Given the description of an element on the screen output the (x, y) to click on. 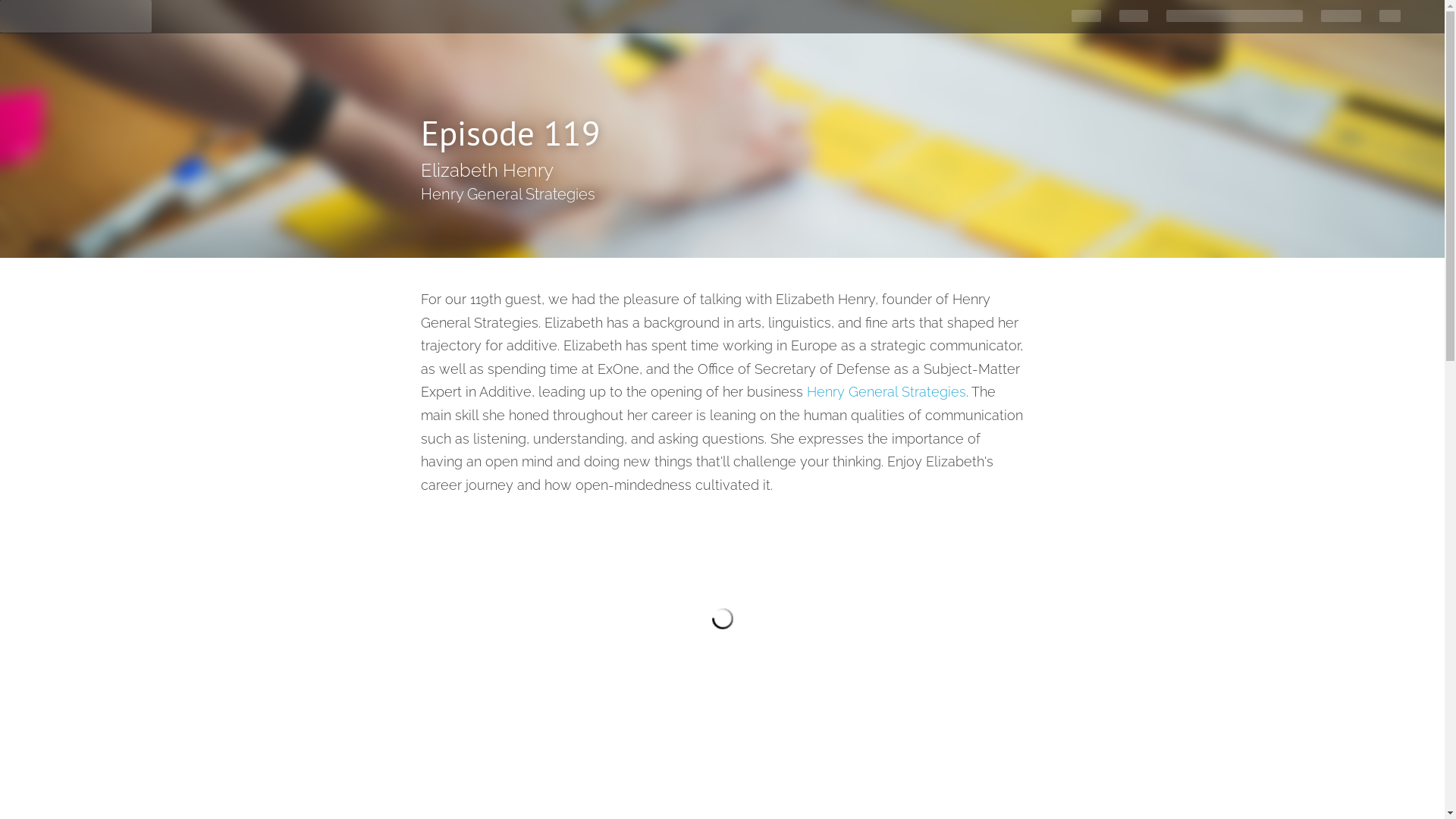
TraceAM Materials Software Element type: text (1234, 15)
About Element type: text (1133, 15)
AMx Element type: text (1389, 15)
Home Element type: text (1086, 15)
Henry General Strategies Element type: text (886, 391)
Podcast Element type: text (1341, 15)
